Given the description of an element on the screen output the (x, y) to click on. 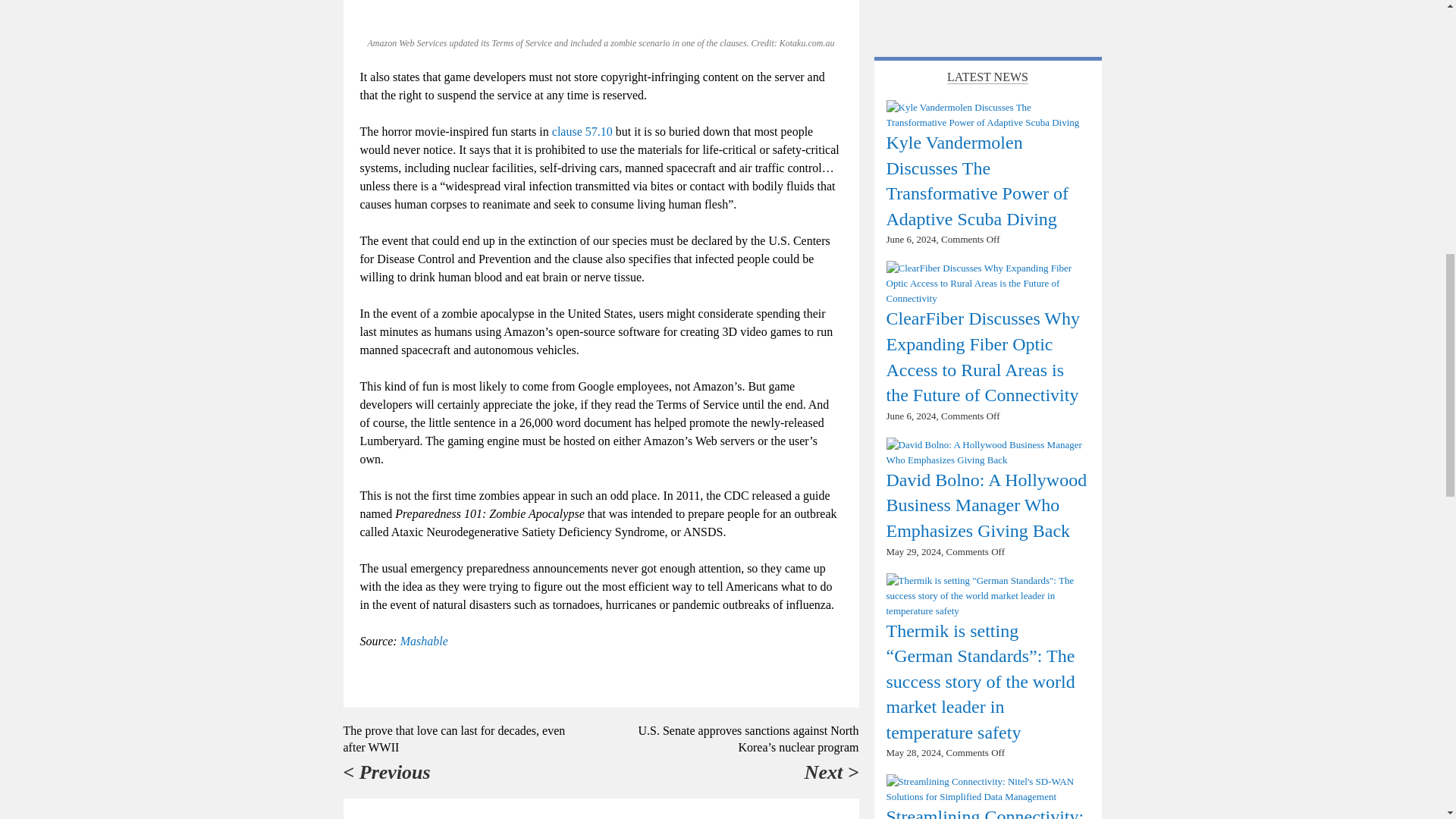
clause 57.10 (581, 131)
Mashable (424, 640)
The prove that love can last for decades, even after WWII (453, 738)
